Given the description of an element on the screen output the (x, y) to click on. 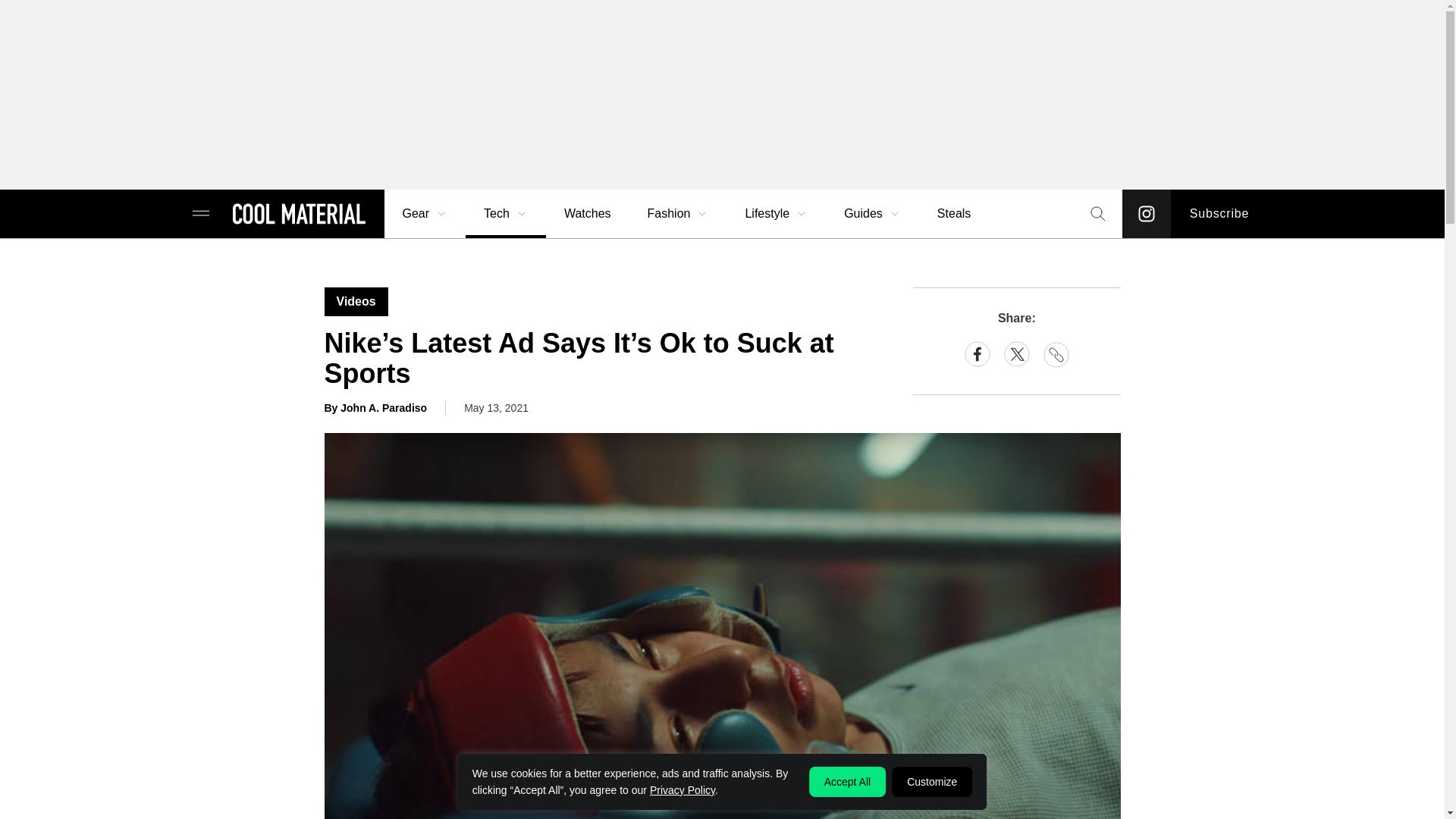
Gear (424, 213)
Watches (587, 213)
Customize (931, 781)
Tech (505, 213)
Privacy Policy (681, 789)
Lifestyle (775, 213)
Accept All (847, 781)
Fashion (677, 213)
